Given the description of an element on the screen output the (x, y) to click on. 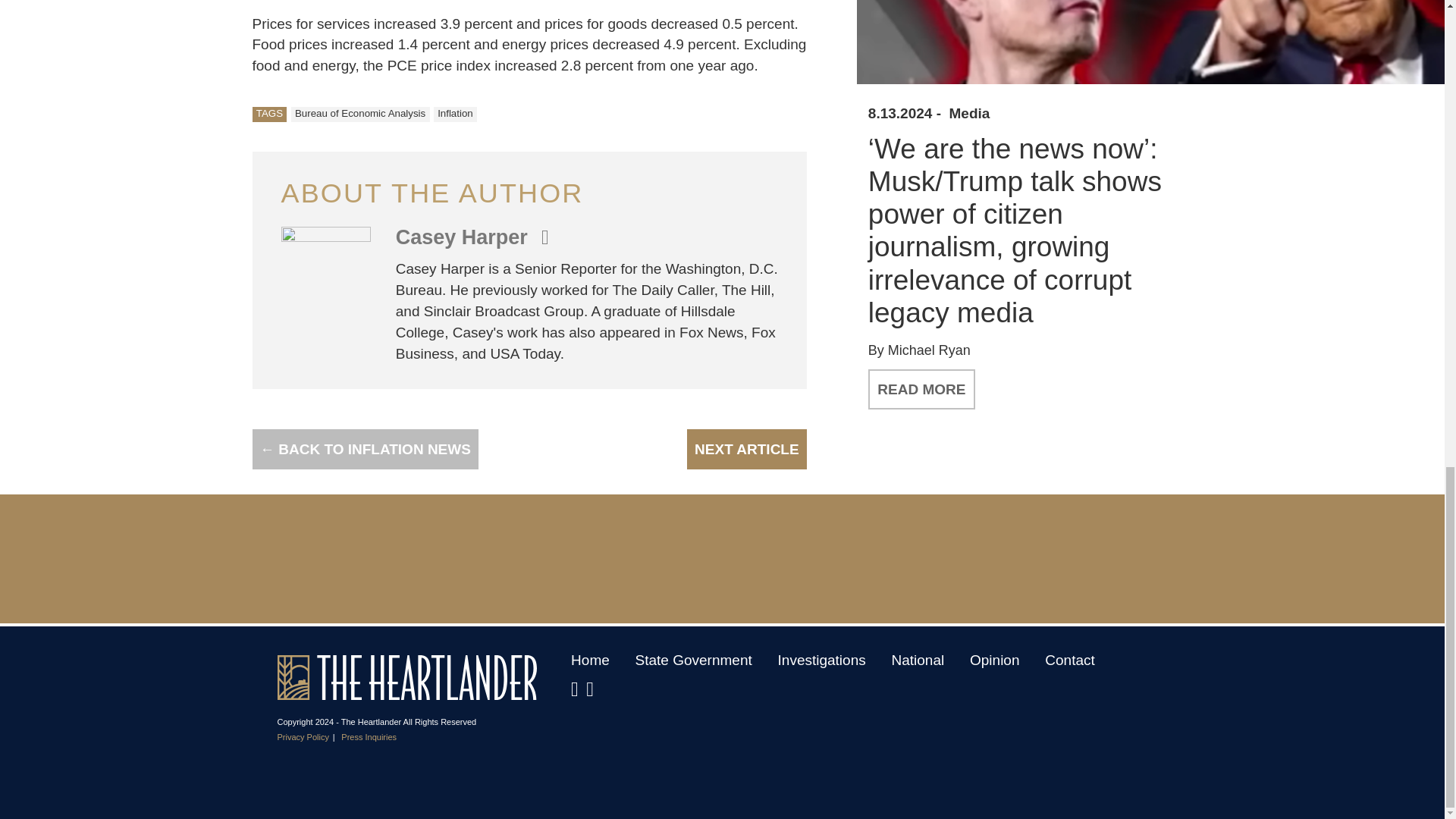
Contact (1069, 659)
Privacy Policy (303, 737)
NEXT ARTICLE (746, 449)
Inflation (455, 114)
READ MORE (921, 389)
Media (969, 113)
Michael Ryan (929, 350)
Investigations (821, 659)
Bureau of Economic Analysis (360, 114)
UPDATE ME (1220, 566)
